Given the description of an element on the screen output the (x, y) to click on. 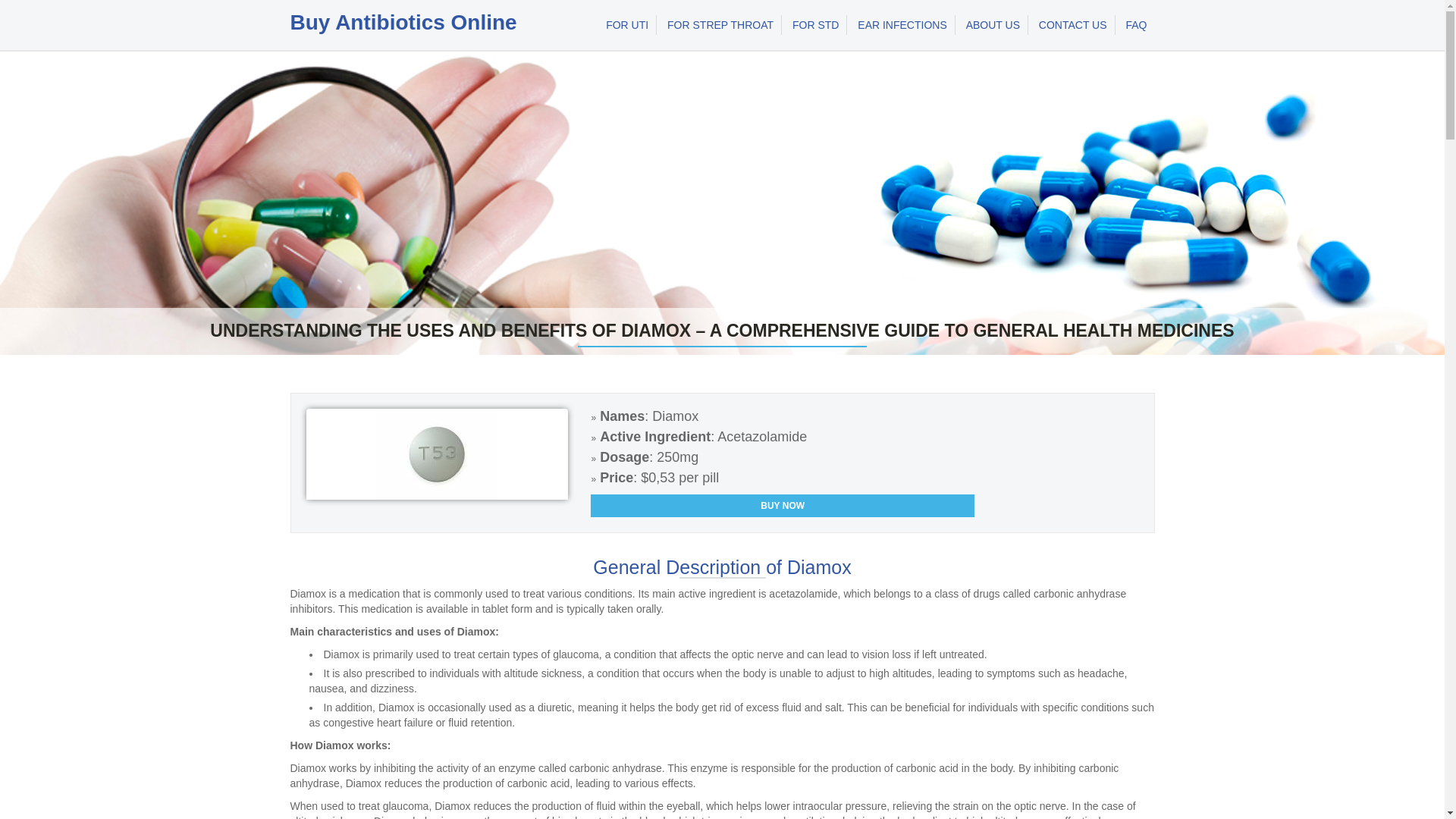
ABOUT US (992, 25)
Buy Antibiotics Online (402, 22)
EAR INFECTIONS (902, 25)
FOR STREP THROAT (720, 25)
Buy Antibiotics Online (402, 22)
FAQ (1136, 25)
BUY NOW (782, 505)
FOR UTI (627, 25)
FOR STD (815, 25)
Buy Now (782, 505)
